Given the description of an element on the screen output the (x, y) to click on. 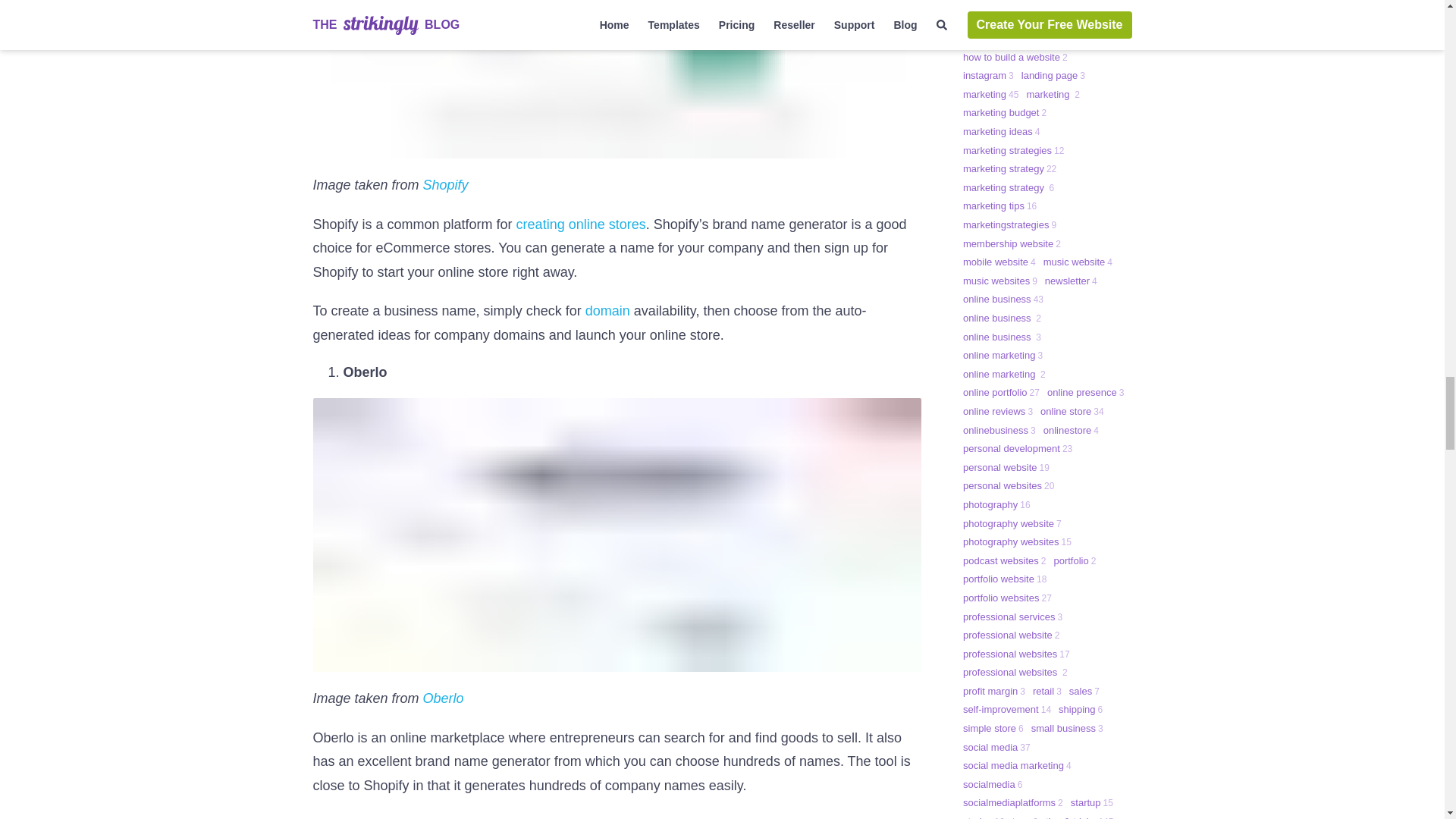
domain (607, 310)
creating online stores (581, 224)
Shopify (445, 184)
Oberlo (443, 698)
